Given the description of an element on the screen output the (x, y) to click on. 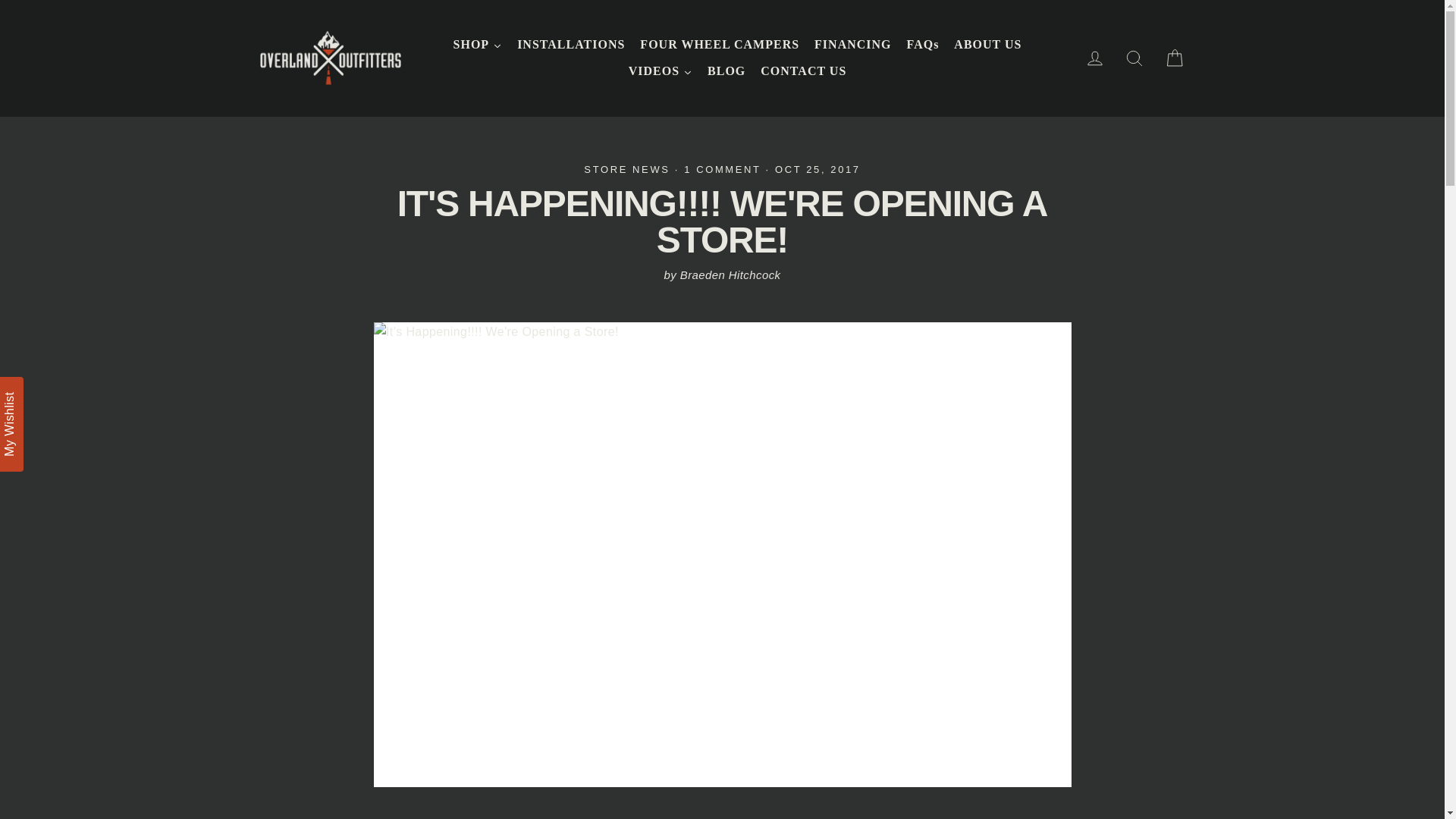
ABOUT US (987, 44)
FINANCING (852, 44)
CONTACT US (802, 71)
SEARCH (1134, 58)
FOUR WHEEL CAMPERS (718, 44)
FOUR WHEEL CAMPERS (718, 44)
ABOUT US (987, 44)
BLOG (726, 71)
SHOP (478, 44)
VIDEOS (660, 71)
INSTALLATIONS (570, 44)
LOG IN (1095, 58)
1 COMMENT (724, 169)
FAQs (923, 44)
